Given the description of an element on the screen output the (x, y) to click on. 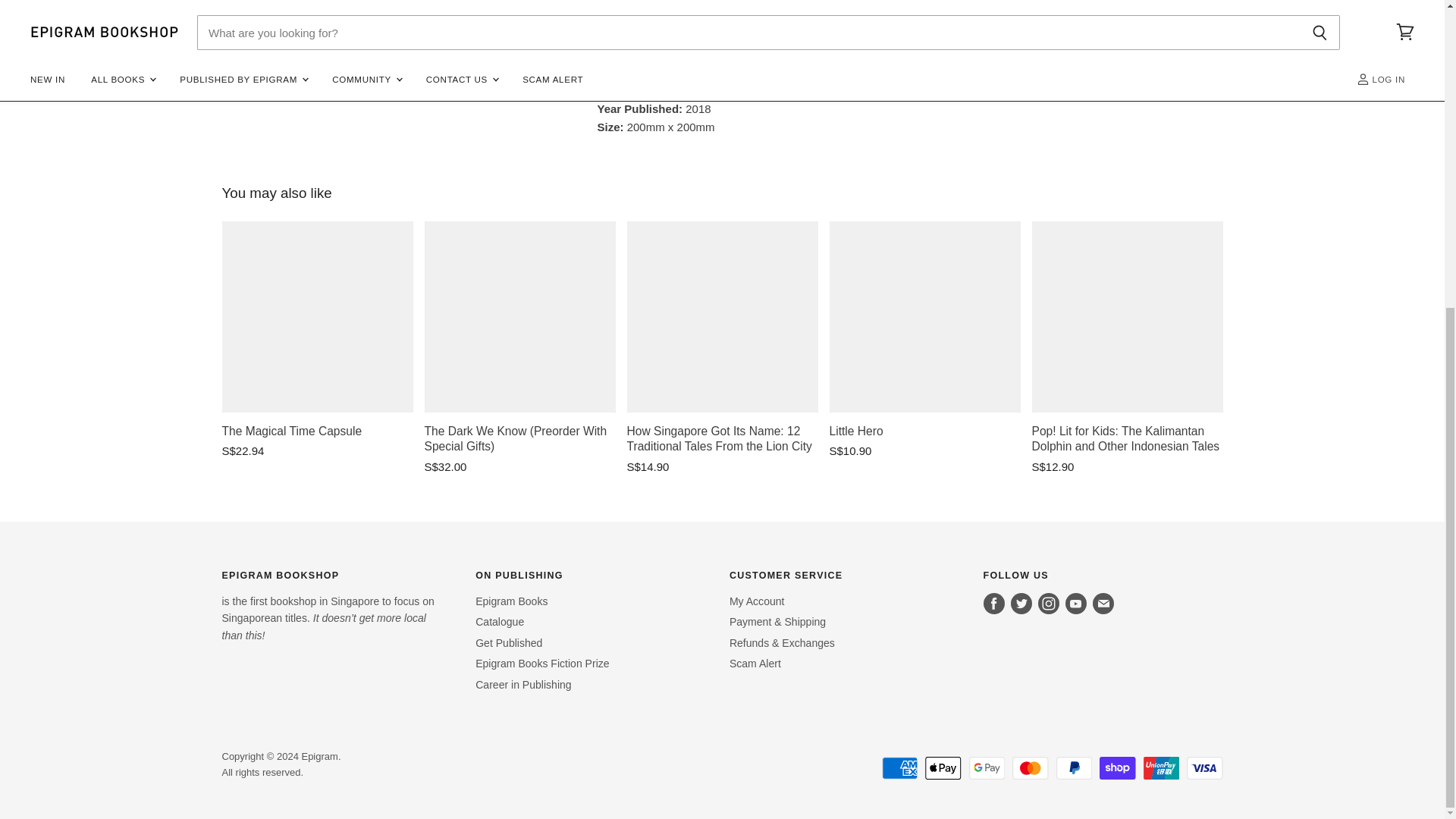
Instagram (1048, 603)
E-mail (1102, 603)
Twitter (1021, 603)
Facebook (993, 603)
Youtube (1075, 603)
